Given the description of an element on the screen output the (x, y) to click on. 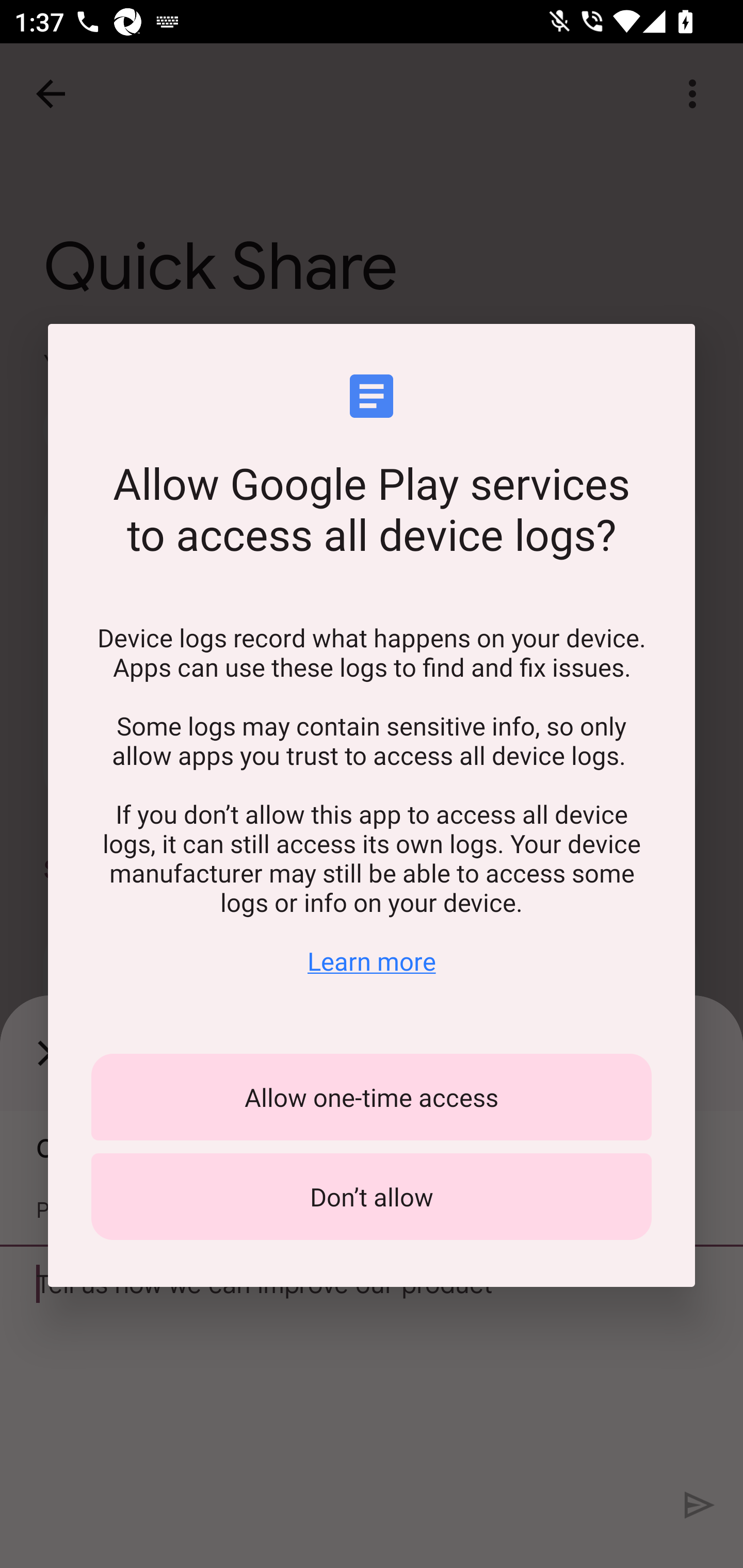
Allow one-time access (371, 1096)
Don’t allow (371, 1197)
